Given the description of an element on the screen output the (x, y) to click on. 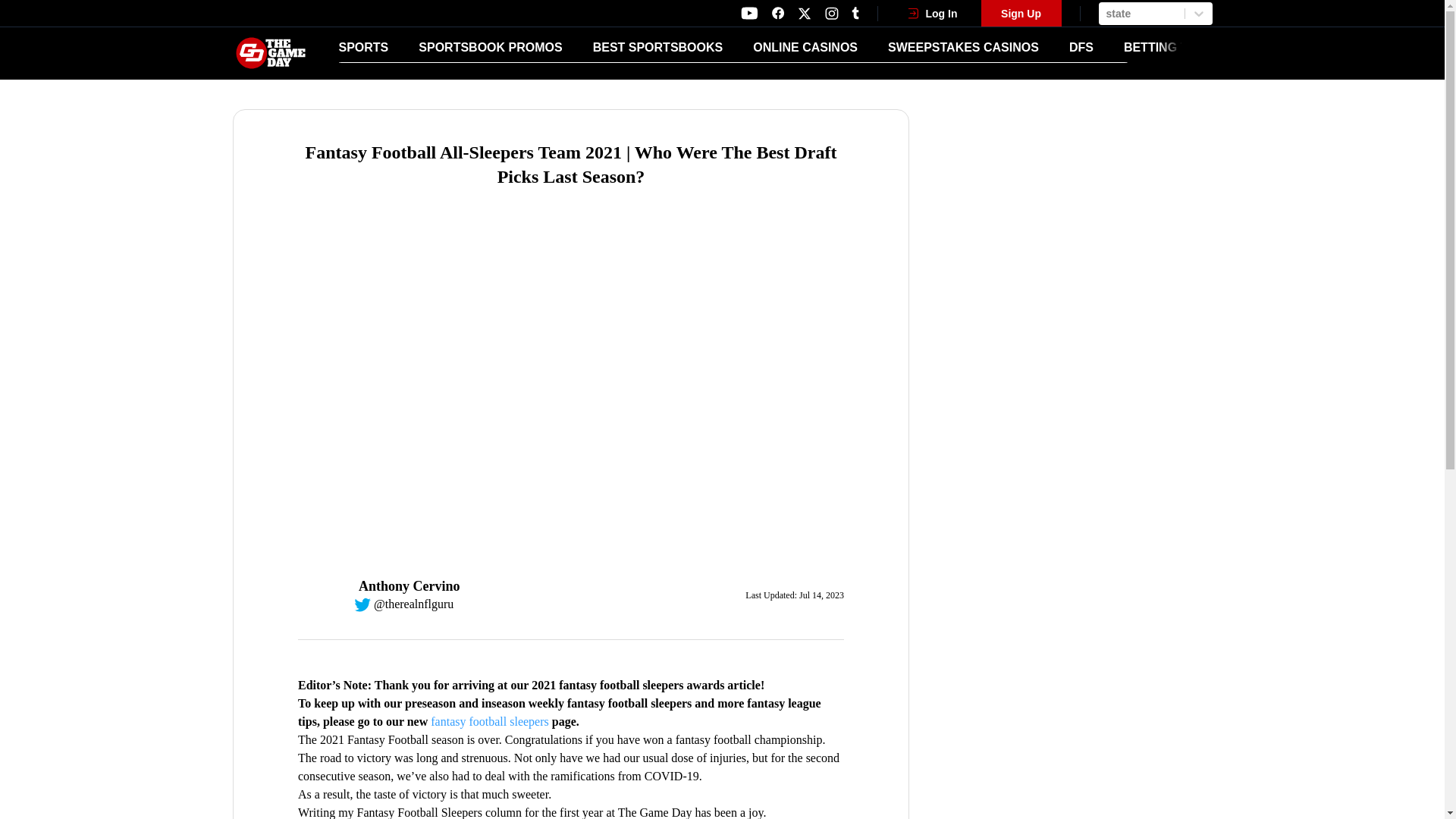
Log In (932, 13)
SPORTS (362, 47)
Sign Up (1021, 13)
TGD X Profile (803, 13)
TGD Facebook Page (777, 12)
TGD Instagram Profile (831, 12)
TGD Youtube Channel (748, 12)
